Given the description of an element on the screen output the (x, y) to click on. 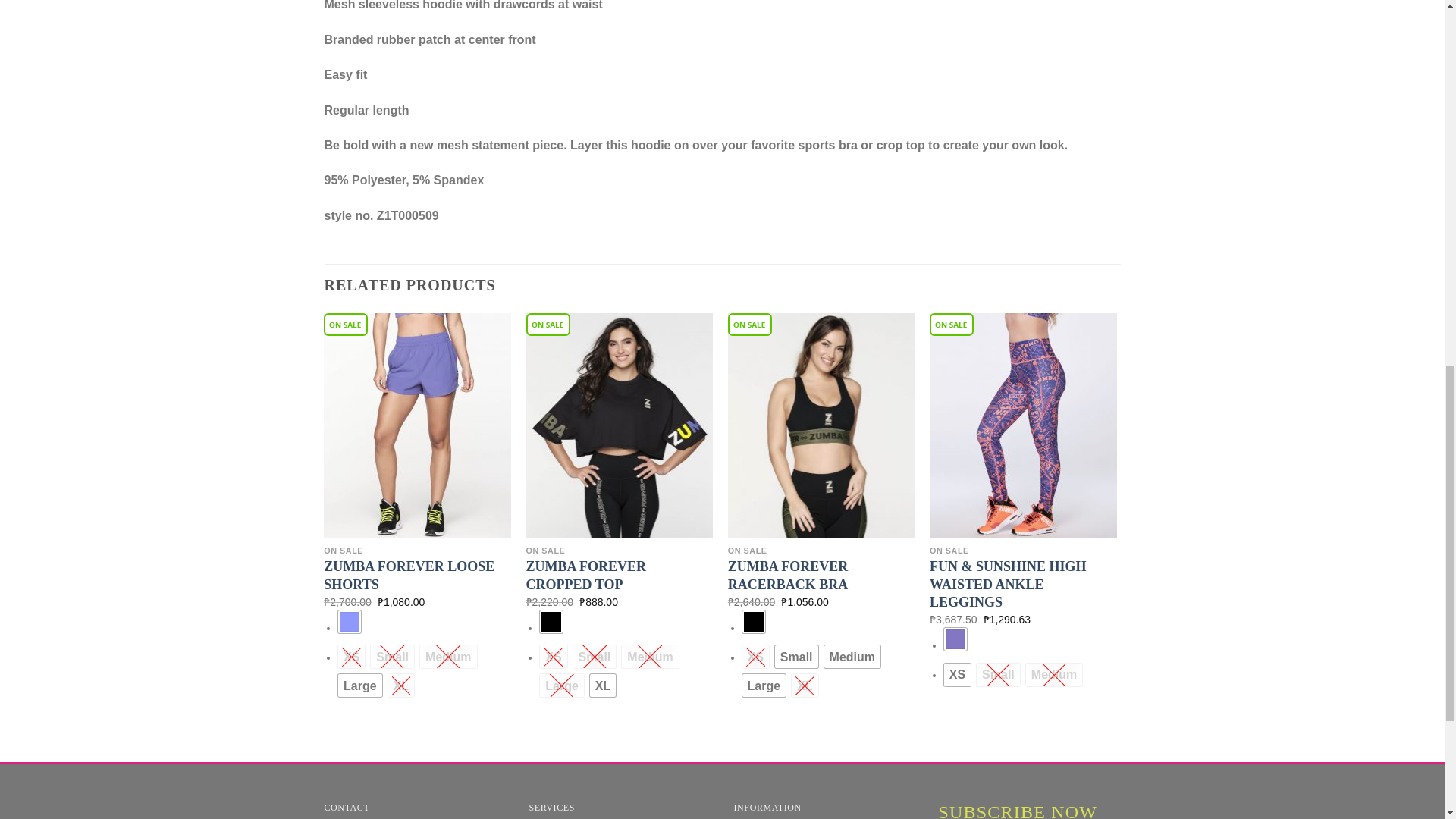
Small (392, 656)
BLUE PERIWINKLE (349, 621)
Medium (448, 656)
XS (351, 656)
